Given the description of an element on the screen output the (x, y) to click on. 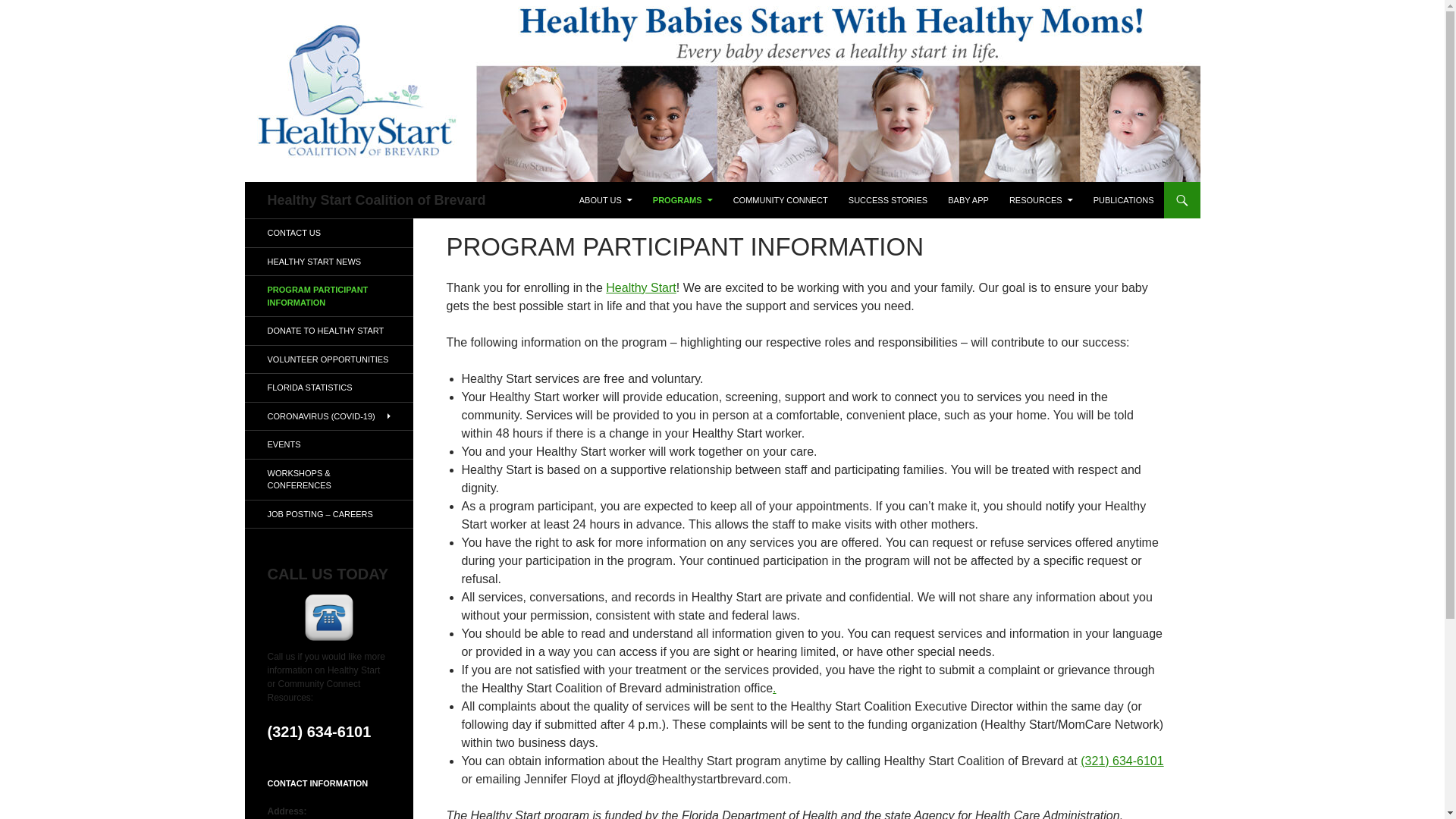
BABY APP (968, 199)
SUCCESS STORIES (888, 199)
DONATE TO HEALTHY START (328, 330)
Healthy Start Coalition of Brevard (375, 199)
RESOURCES (1040, 199)
HEALTHY START NEWS (328, 261)
Healthy Start (640, 287)
COMMUNITY CONNECT (780, 199)
PROGRAM PARTICIPANT INFORMATION (328, 296)
ABOUT US (606, 199)
PROGRAMS (682, 199)
CONTACT US (328, 233)
PUBLICATIONS (1123, 199)
